Given the description of an element on the screen output the (x, y) to click on. 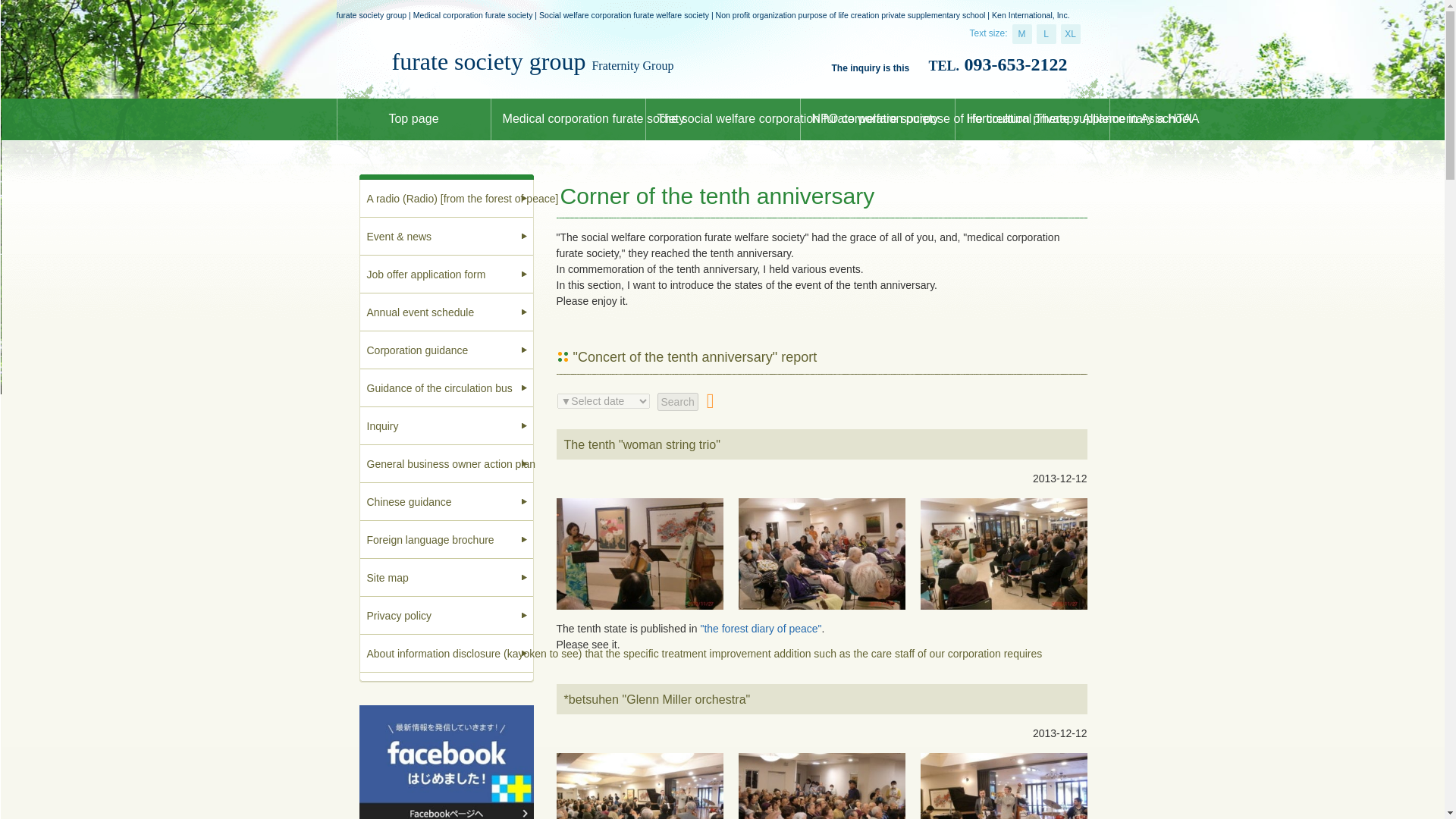
Guidance of the circulation bus (446, 388)
Inquiry (446, 426)
General business owner action plan (446, 464)
Annual event schedule (446, 312)
XL (1070, 34)
Medical corporation furate society (569, 119)
Top page (414, 119)
Job offer application form (446, 274)
Privacy policy (446, 615)
